Given the description of an element on the screen output the (x, y) to click on. 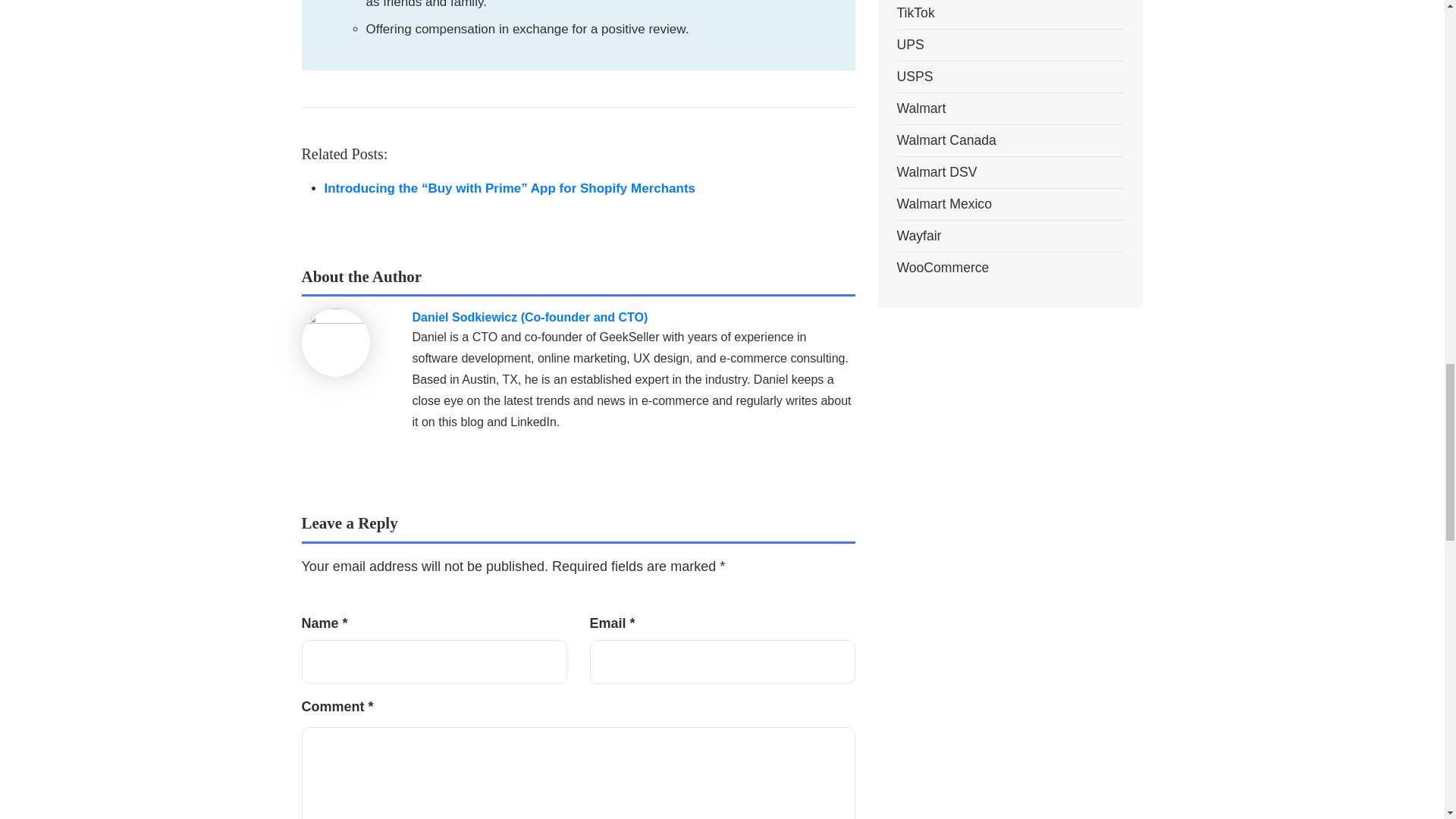
TikTok (915, 13)
